Given the description of an element on the screen output the (x, y) to click on. 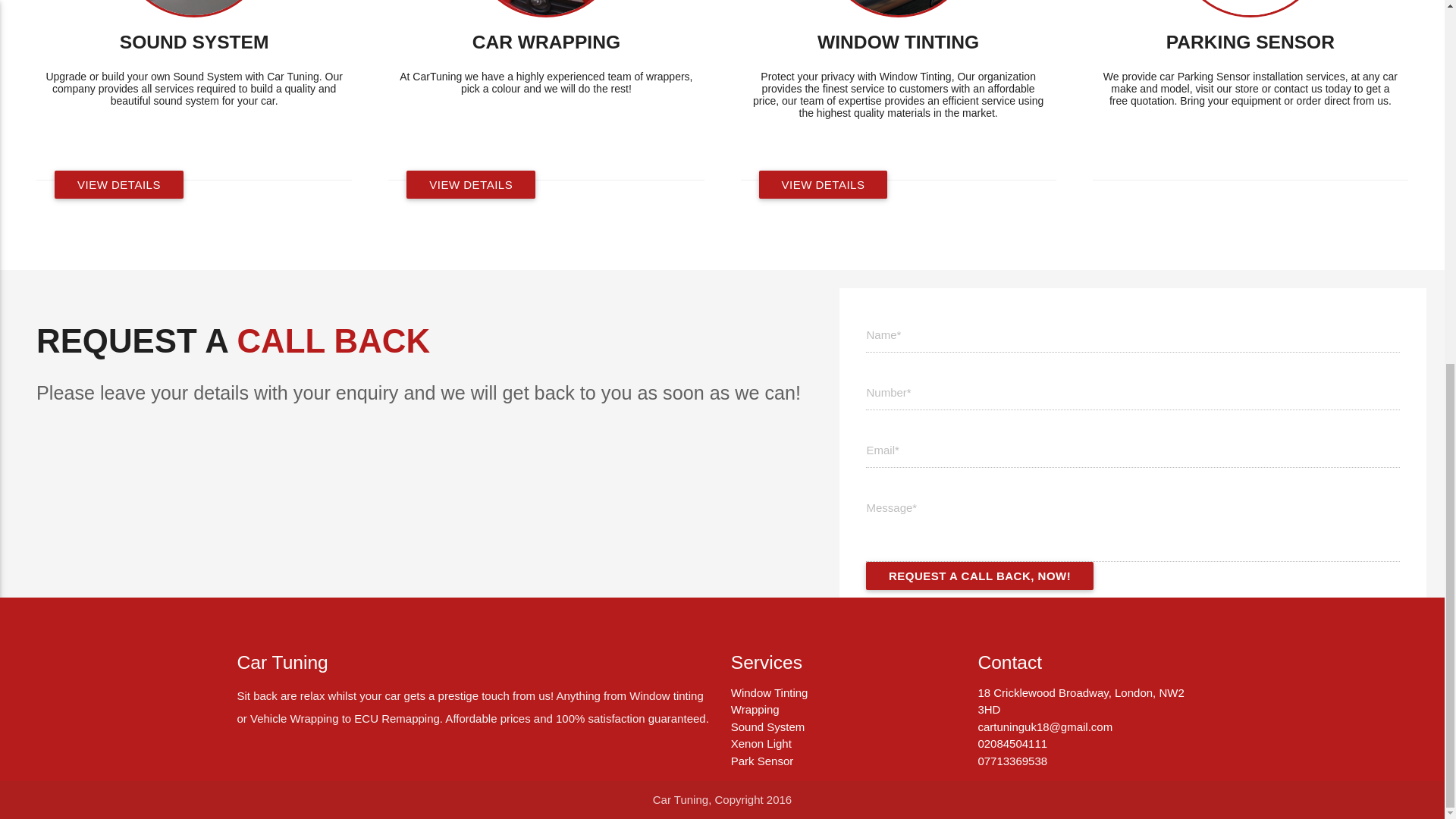
Xenon Light (761, 743)
02084504111 (1011, 743)
18 Cricklewood Broadway, London, NW2 3HD (1079, 701)
Park Sensor (761, 760)
Window Tinting (769, 692)
Wrapping (754, 708)
VIEW DETAILS (119, 184)
07713369538 (1011, 760)
REQUEST A CALL BACK, NOW! (979, 575)
VIEW DETAILS (822, 184)
VIEW DETAILS (470, 184)
Sound System (767, 726)
